Given the description of an element on the screen output the (x, y) to click on. 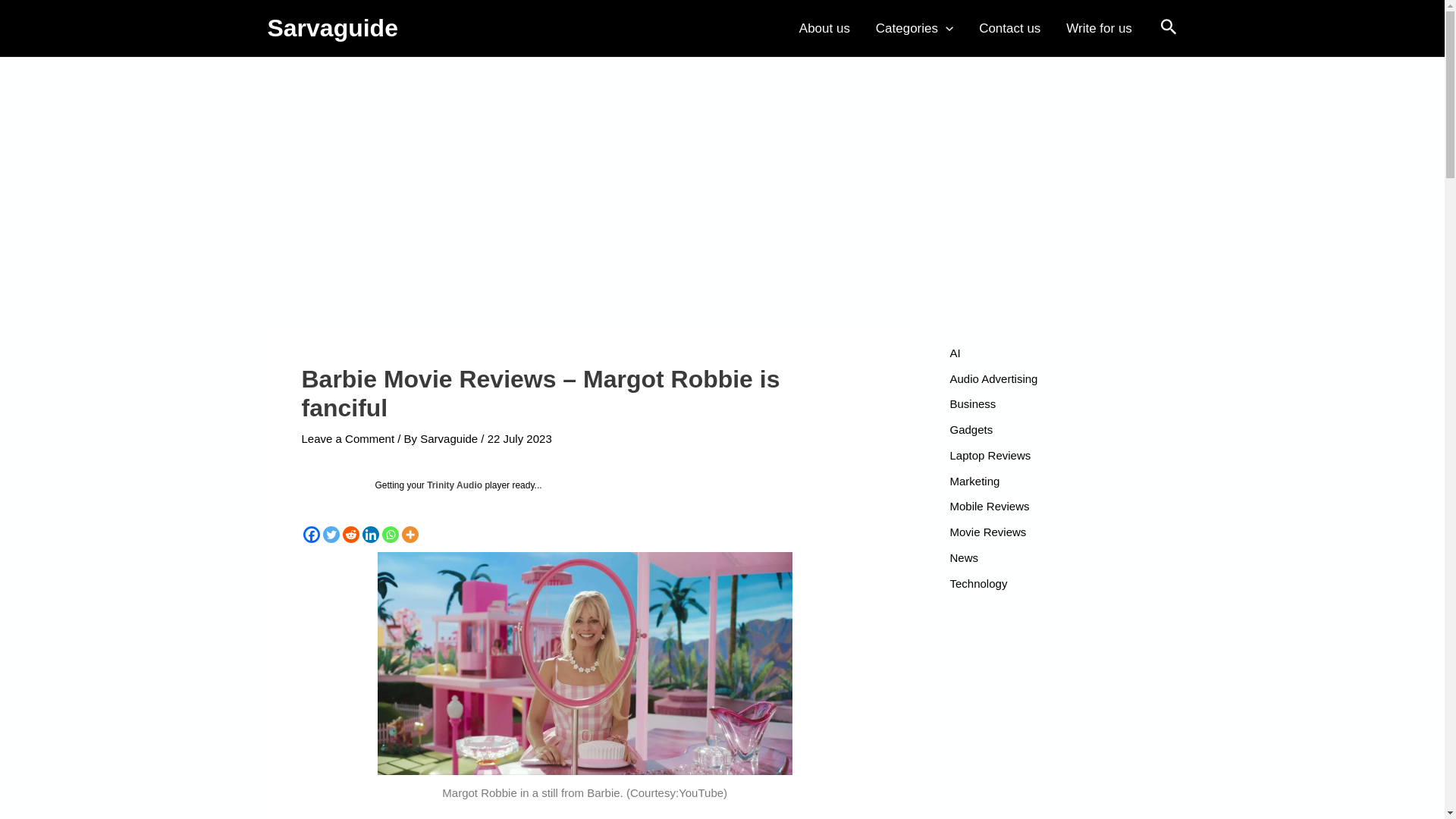
Linkedin (370, 534)
View all posts by Sarvaguide (450, 438)
Write for us (1098, 28)
Reddit (350, 534)
Contact us (1009, 28)
Twitter (331, 534)
Leave a Comment (347, 438)
Categories (914, 28)
Sarvaguide (331, 27)
Trinity Audio (453, 484)
Facebook (311, 534)
About us (824, 28)
Whatsapp (389, 534)
Sarvaguide (450, 438)
